Given the description of an element on the screen output the (x, y) to click on. 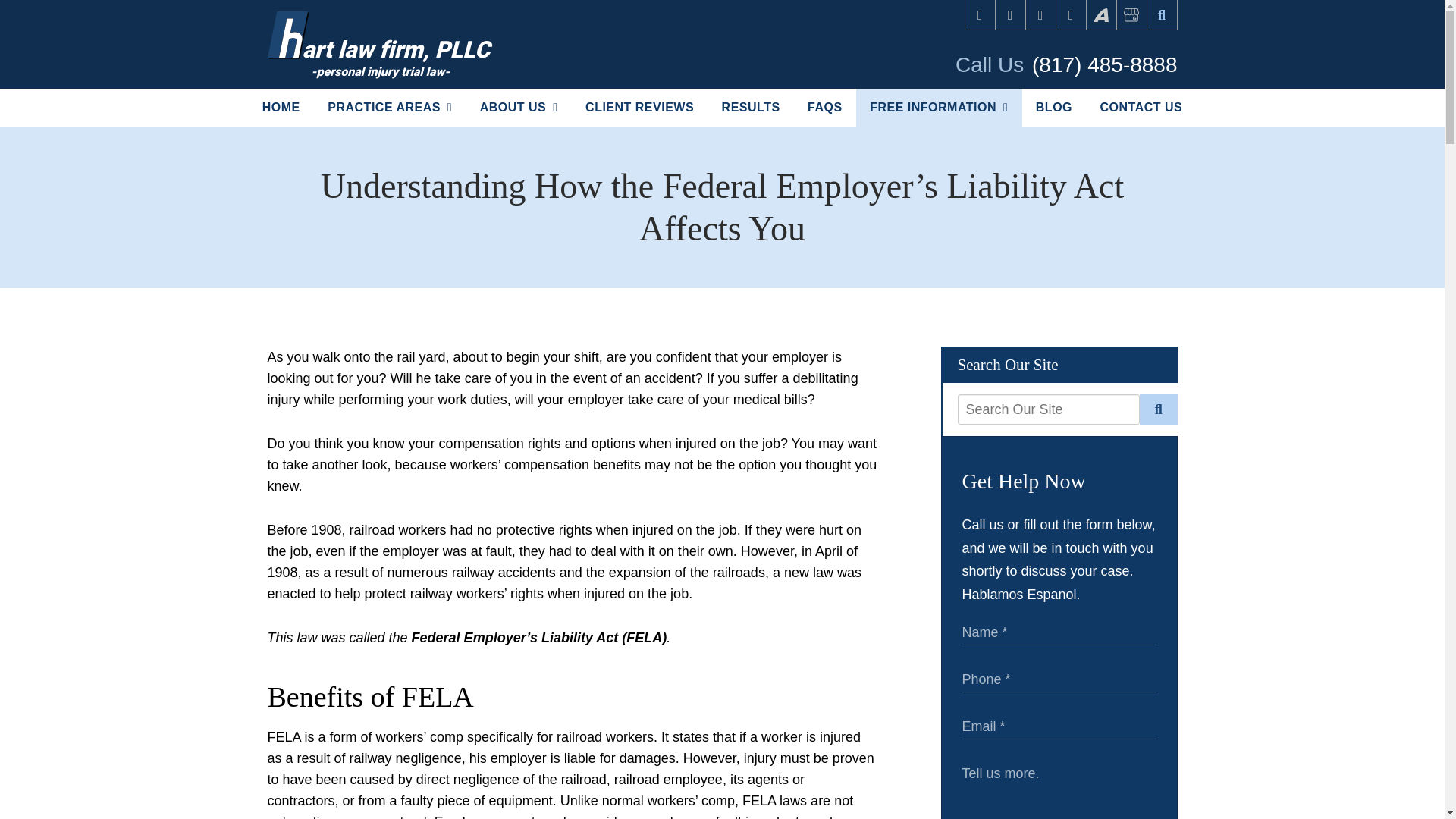
BLOG (1054, 107)
RESULTS (750, 107)
PRACTICE AREAS (389, 107)
FREE INFORMATION (939, 107)
FAQS (824, 107)
ABOUT US (517, 107)
Search (1158, 409)
CLIENT REVIEWS (639, 107)
HOME (281, 107)
Search (1161, 15)
